Given the description of an element on the screen output the (x, y) to click on. 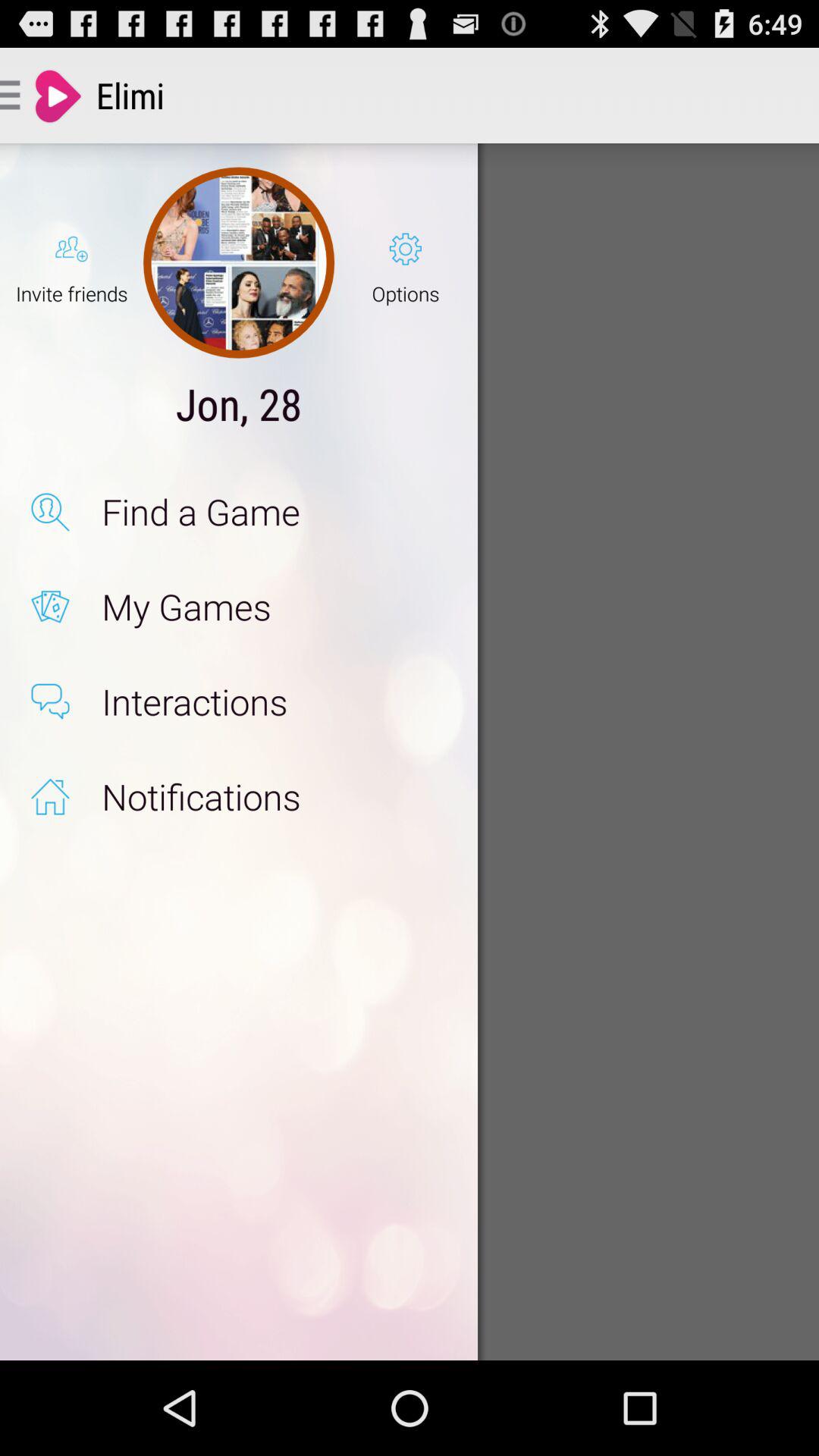
click the find a game (273, 511)
